Given the description of an element on the screen output the (x, y) to click on. 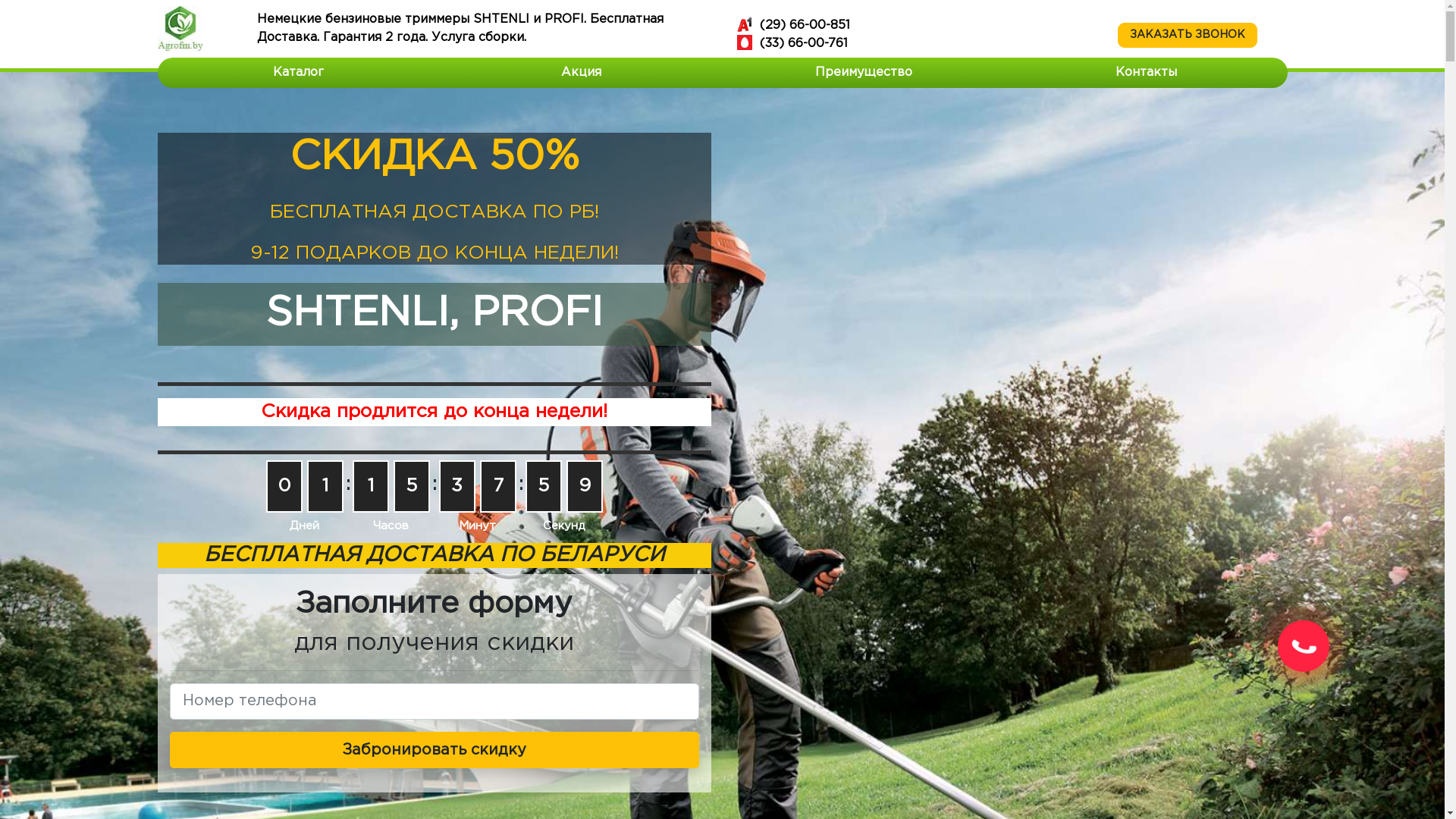
(33) 66-00-761 Element type: text (916, 43)
(29) 66-00-851 Element type: text (916, 25)
